Given the description of an element on the screen output the (x, y) to click on. 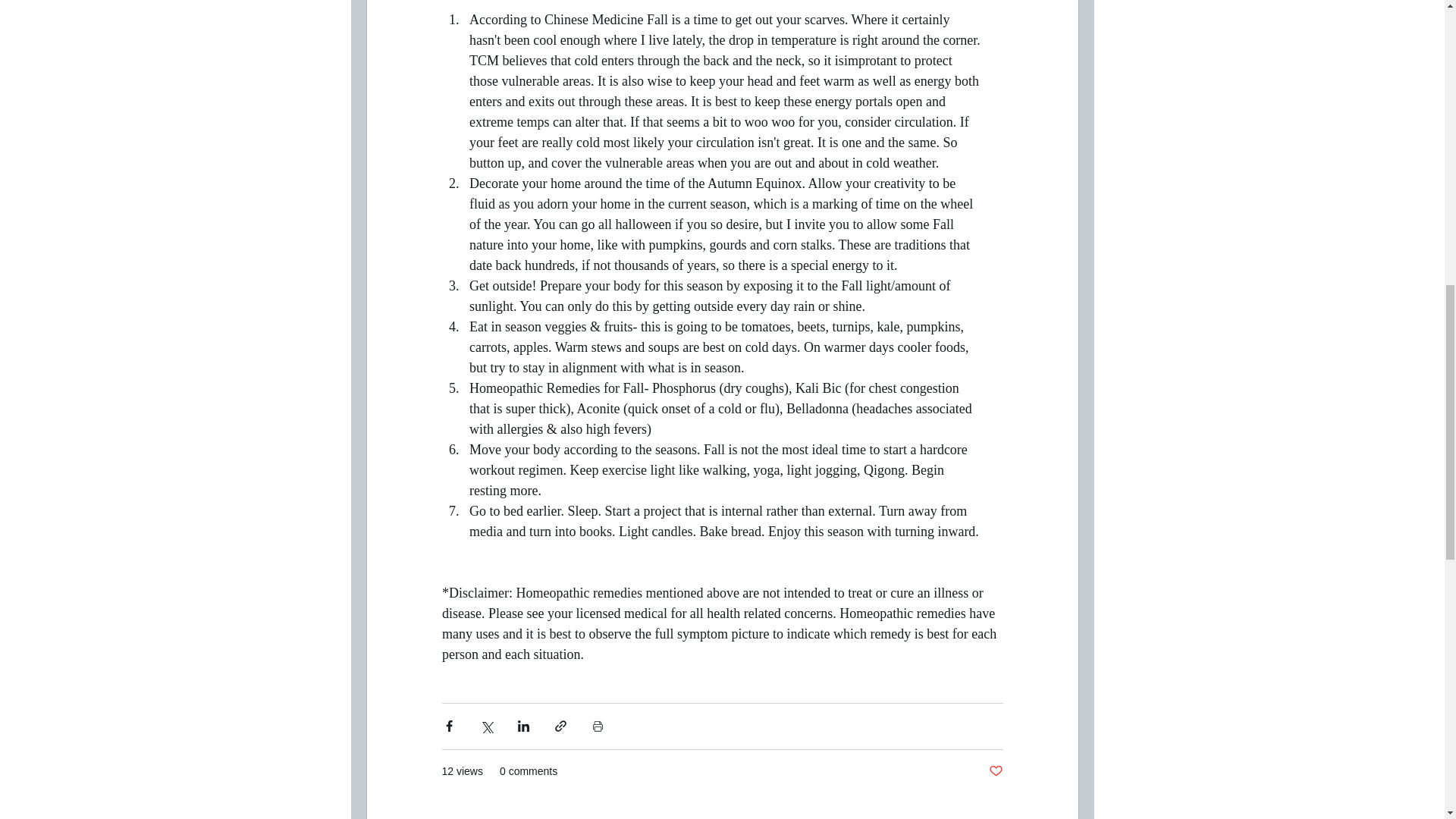
Post not marked as liked (995, 771)
